Given the description of an element on the screen output the (x, y) to click on. 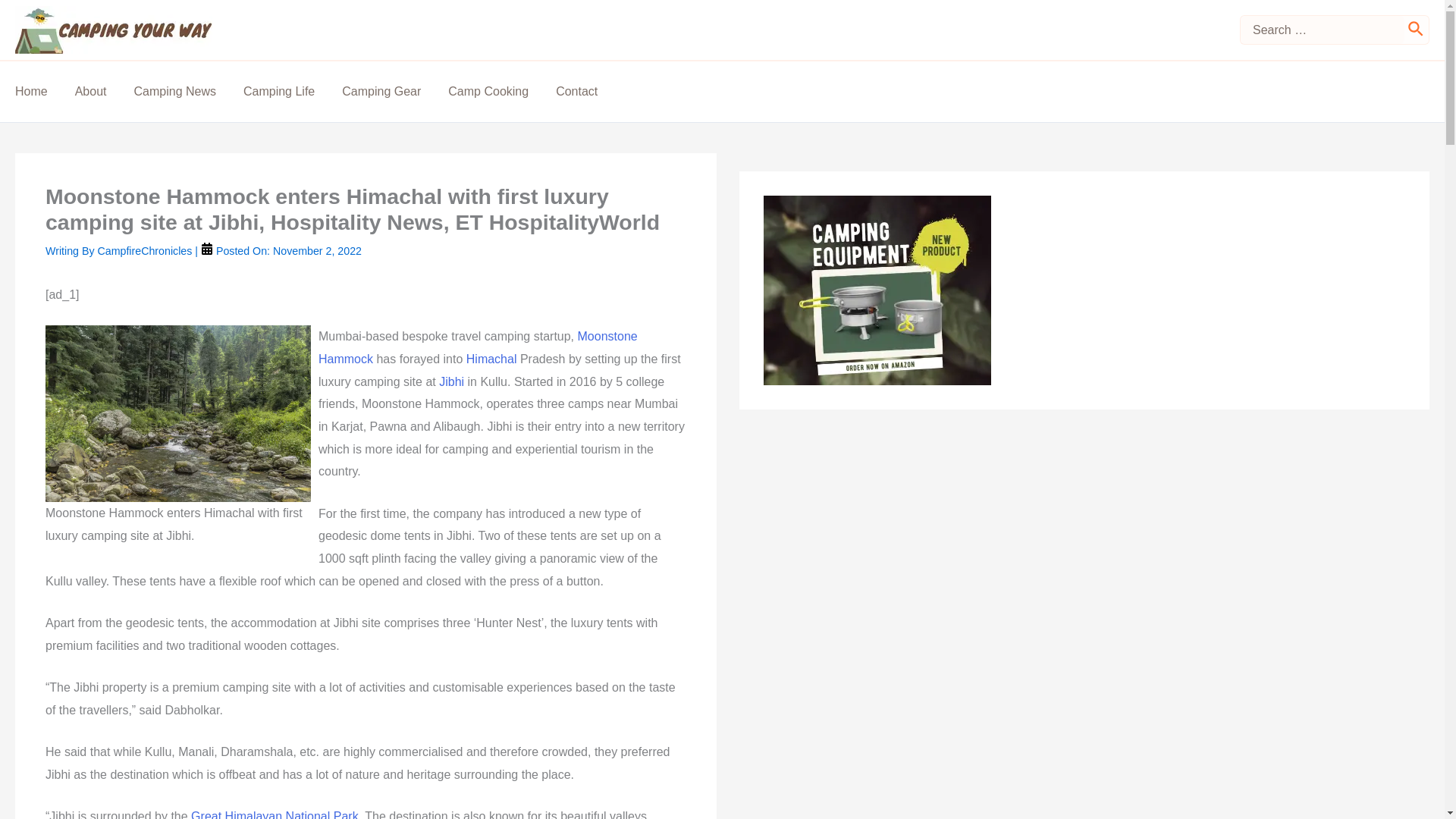
Moonstone Hammock (477, 347)
Home (44, 91)
Contact (590, 91)
Jibhi (451, 381)
Great Himalayan National Park (274, 814)
Camp Cooking (502, 91)
Camping News (188, 91)
Camping Life (292, 91)
View all posts by CampfireChronicles (146, 250)
About (104, 91)
CampfireChronicles (146, 250)
Himachal (490, 358)
Camping Gear (395, 91)
